Given the description of an element on the screen output the (x, y) to click on. 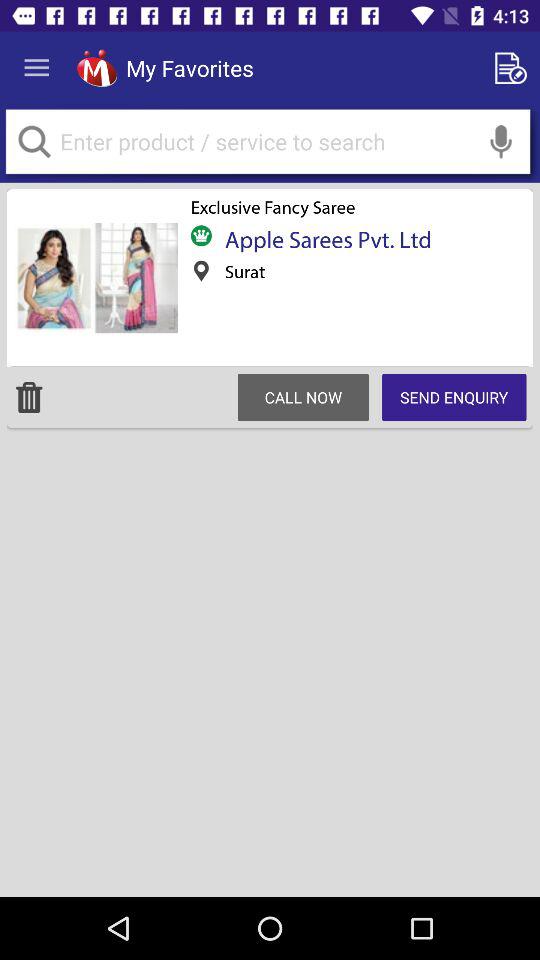
launch item above send enquiry item (501, 141)
